Given the description of an element on the screen output the (x, y) to click on. 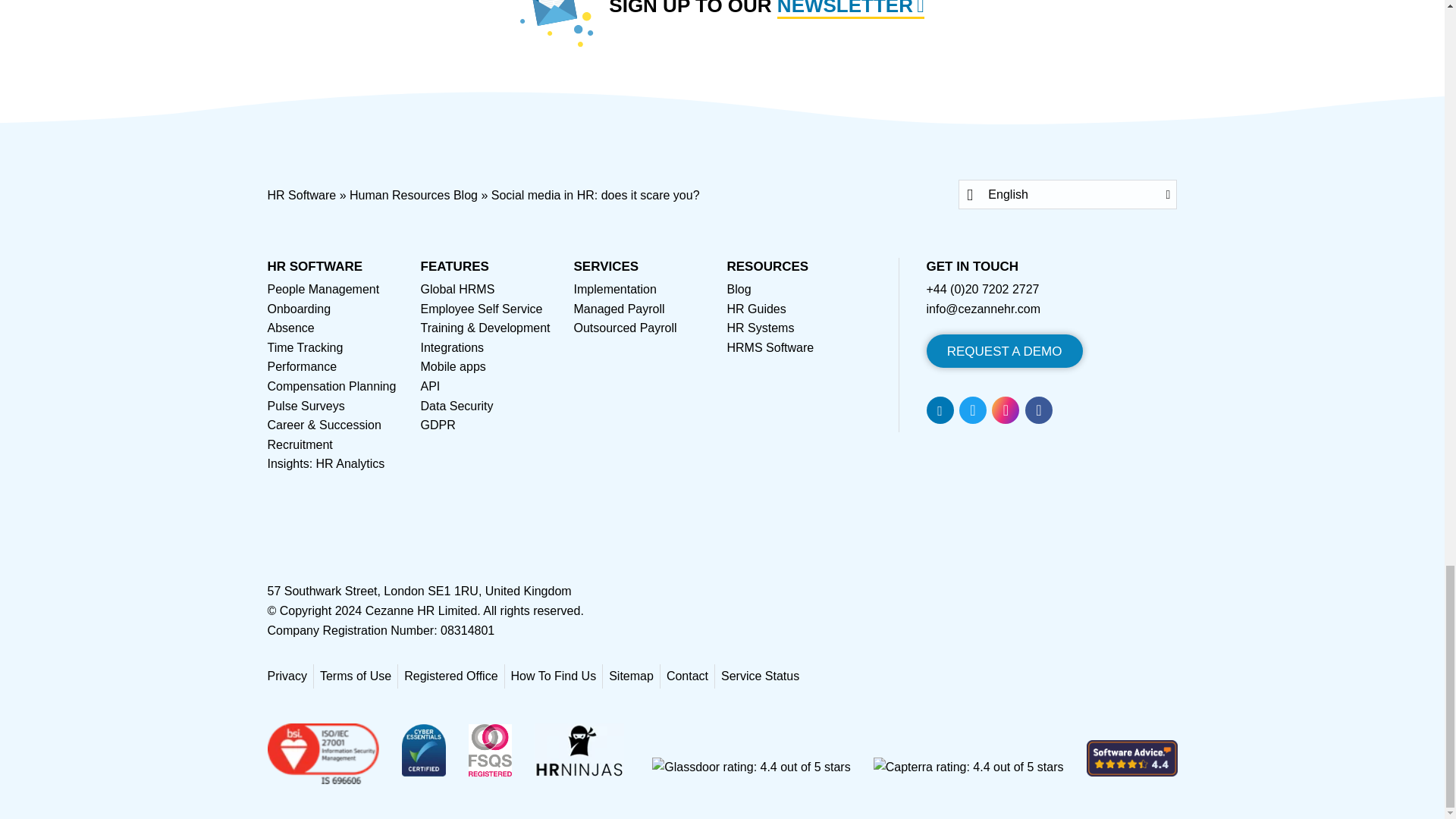
Cezanne HR (421, 610)
